Given the description of an element on the screen output the (x, y) to click on. 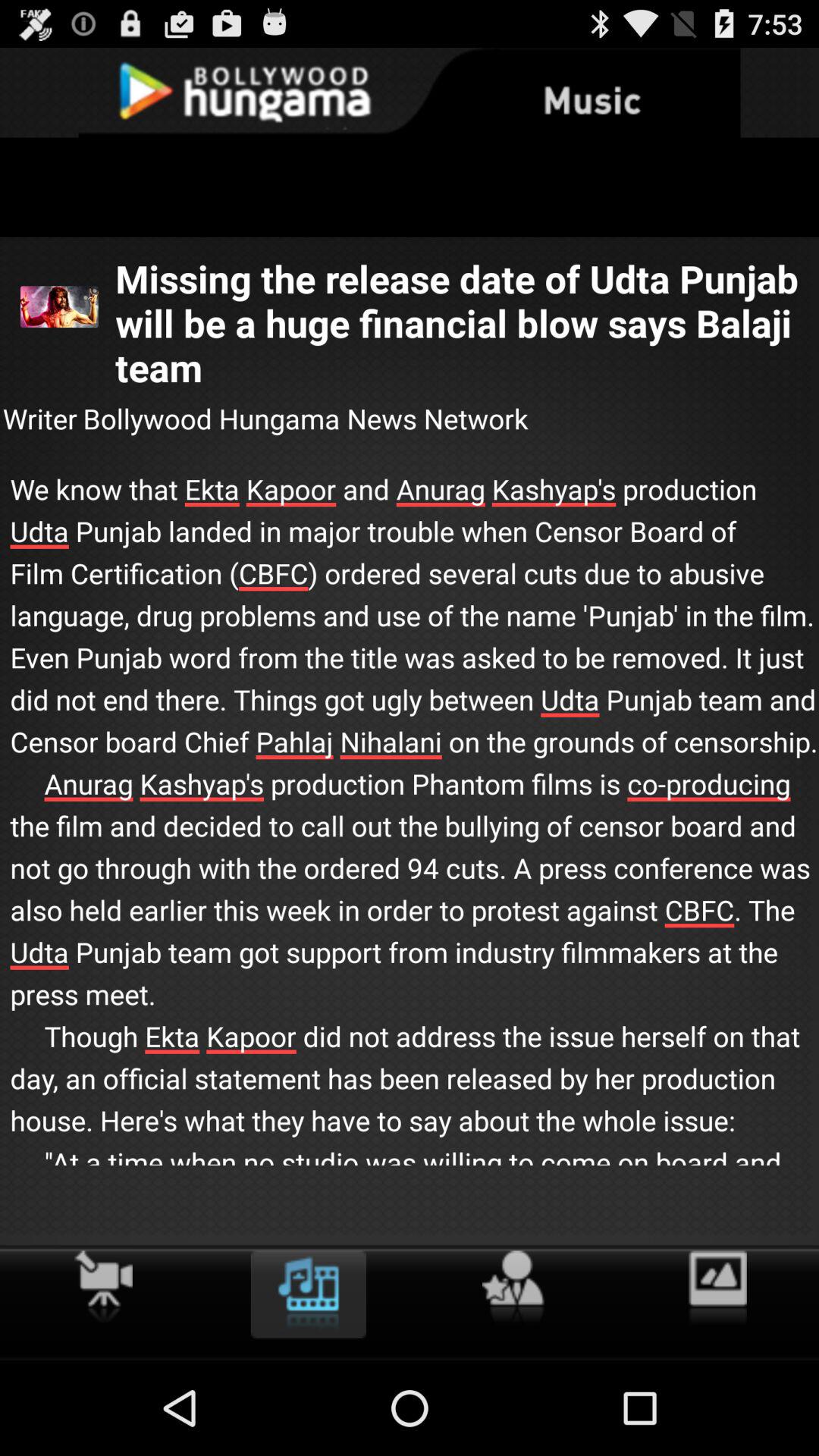
click item below we know that (307, 1294)
